Given the description of an element on the screen output the (x, y) to click on. 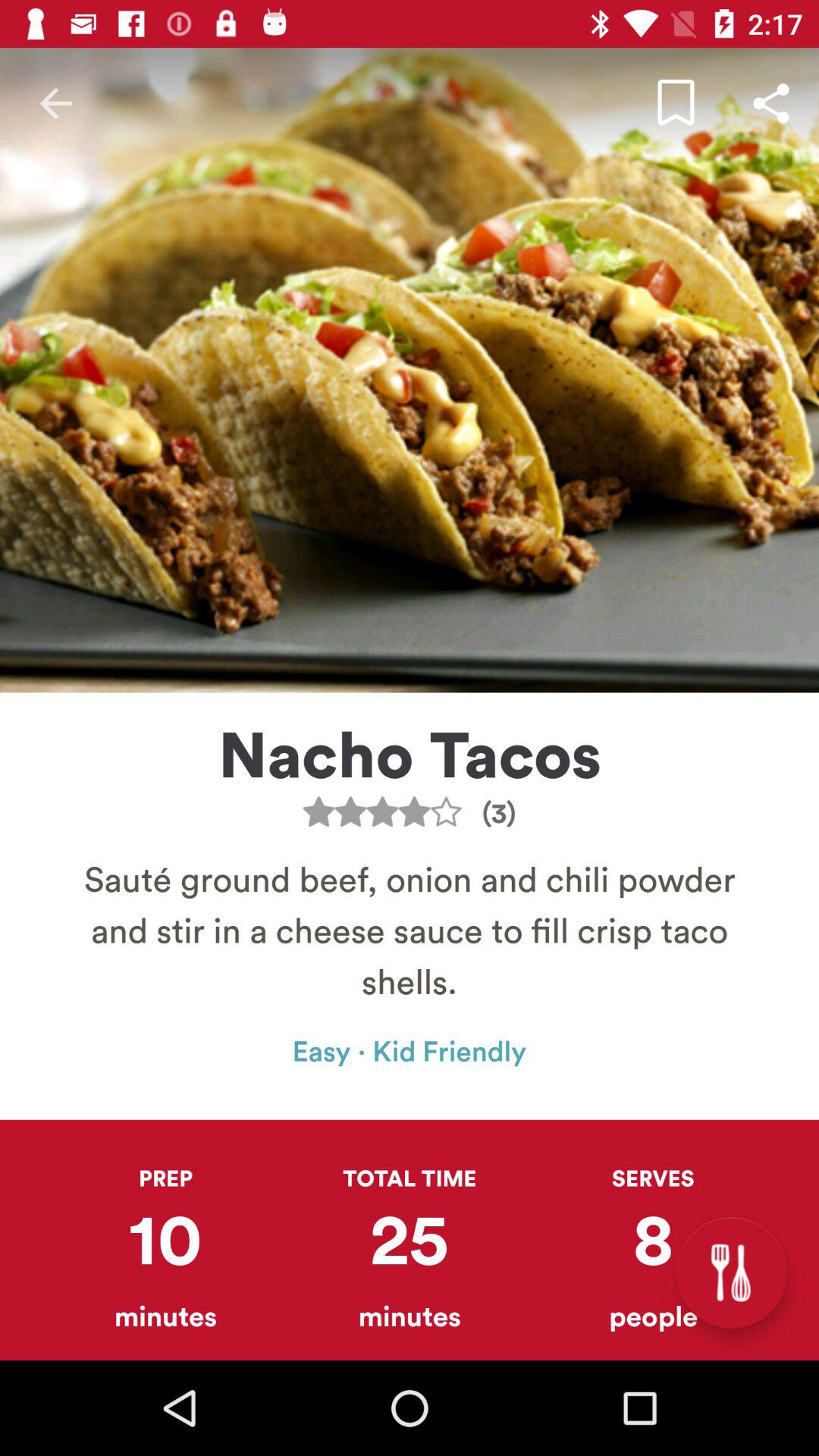
tap the icon below the serves item (731, 1272)
